Given the description of an element on the screen output the (x, y) to click on. 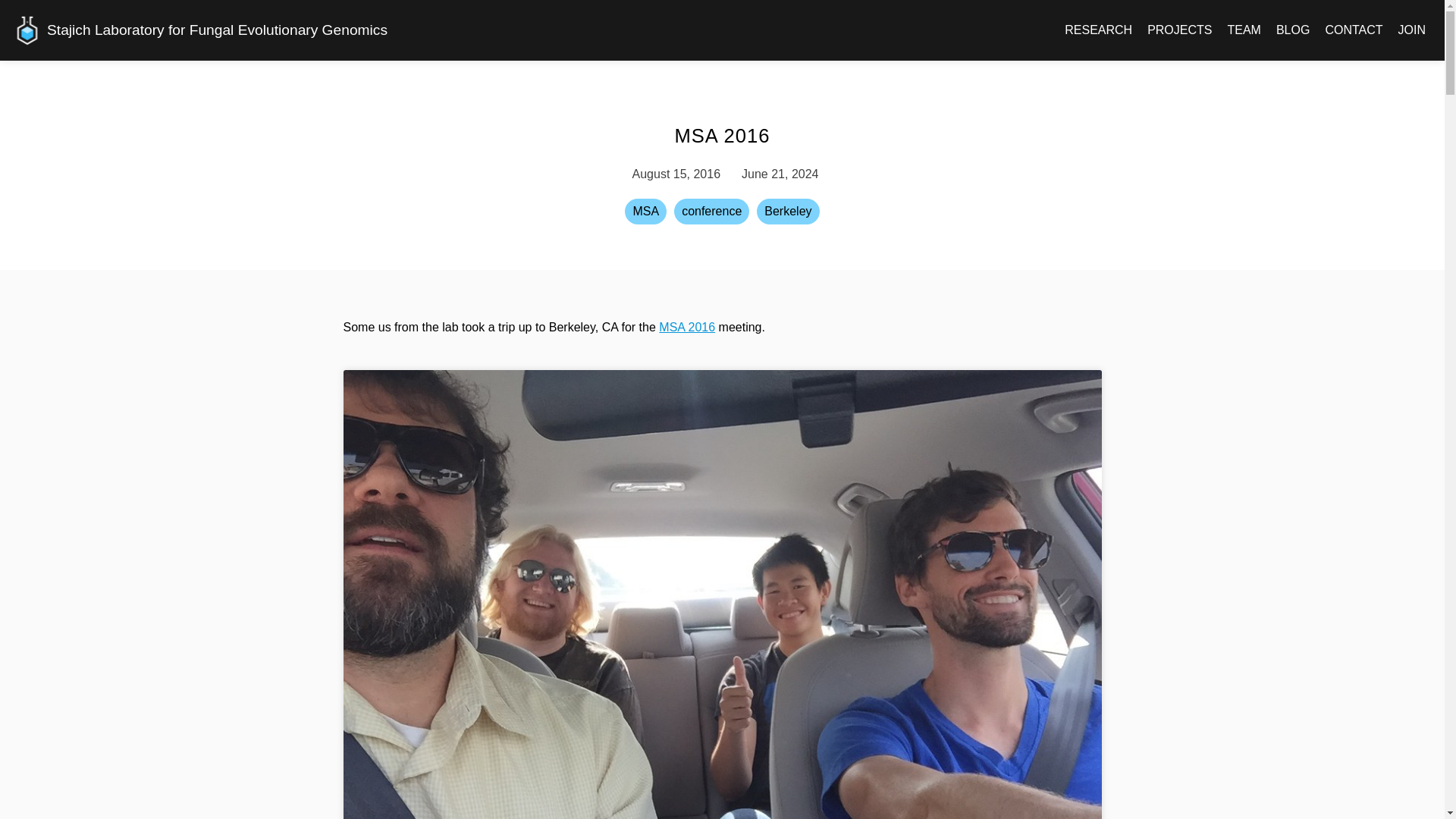
RESEARCH (1098, 30)
CONTACT (1353, 30)
MSA 2016 (686, 327)
Berkeley (787, 211)
JOIN (1411, 30)
BLOG (1292, 30)
PROJECTS (1178, 30)
TEAM (1243, 30)
MSA (645, 211)
conference (711, 211)
